Given the description of an element on the screen output the (x, y) to click on. 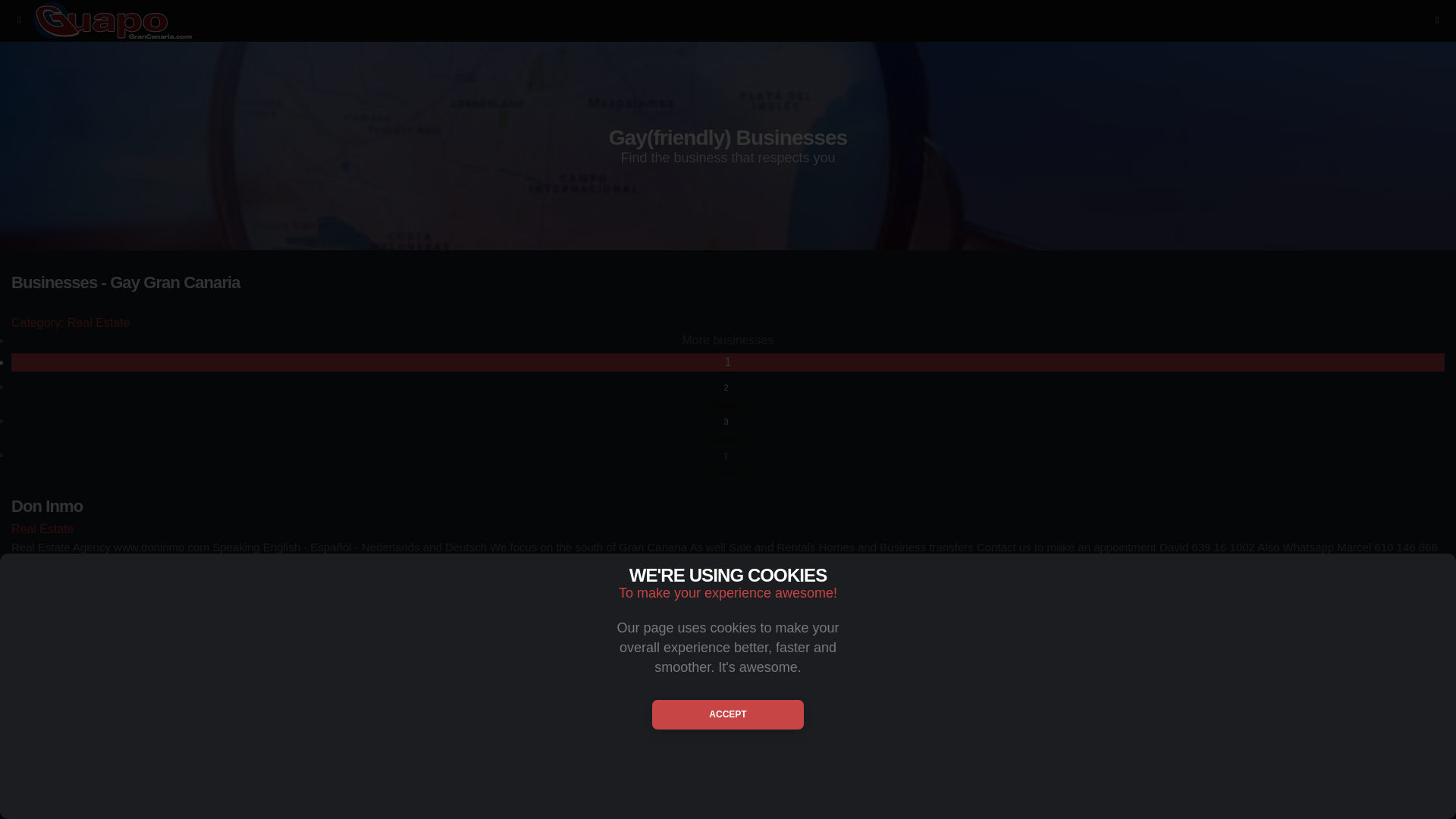
Category: Real Estate (727, 322)
DragVids.com (727, 797)
Don Inmo (727, 506)
3 (726, 422)
Drag Tailor (727, 651)
2 (726, 388)
Fashion (727, 674)
Real Estate (727, 528)
